Given the description of an element on the screen output the (x, y) to click on. 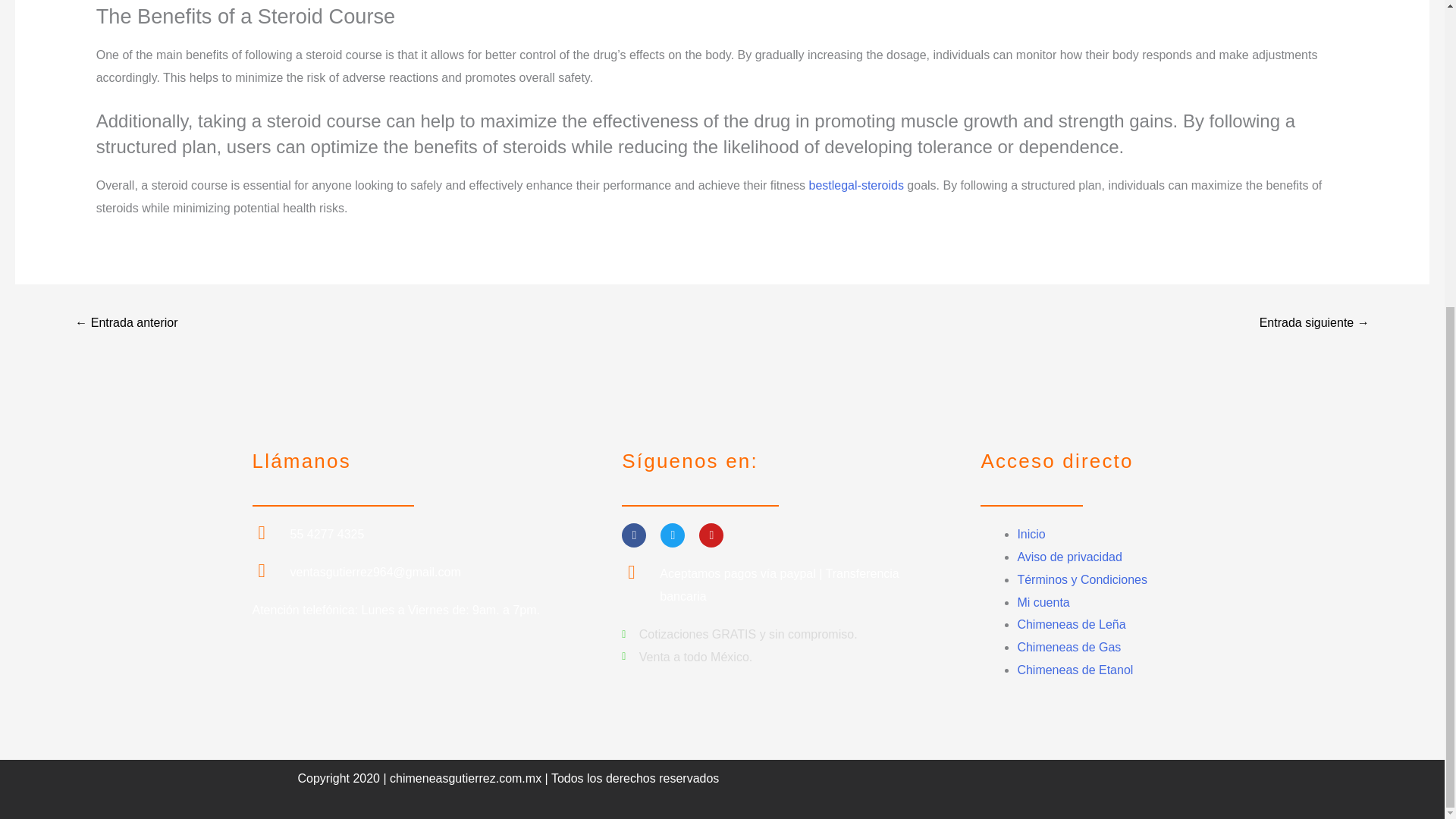
Inicio (1030, 533)
Youtube (710, 535)
Facebook (633, 535)
Twitter (672, 535)
bestlegal-steroids (855, 185)
Steroids in Bodybuilding: The Good, The Bad, and The Ugly (125, 324)
